Given the description of an element on the screen output the (x, y) to click on. 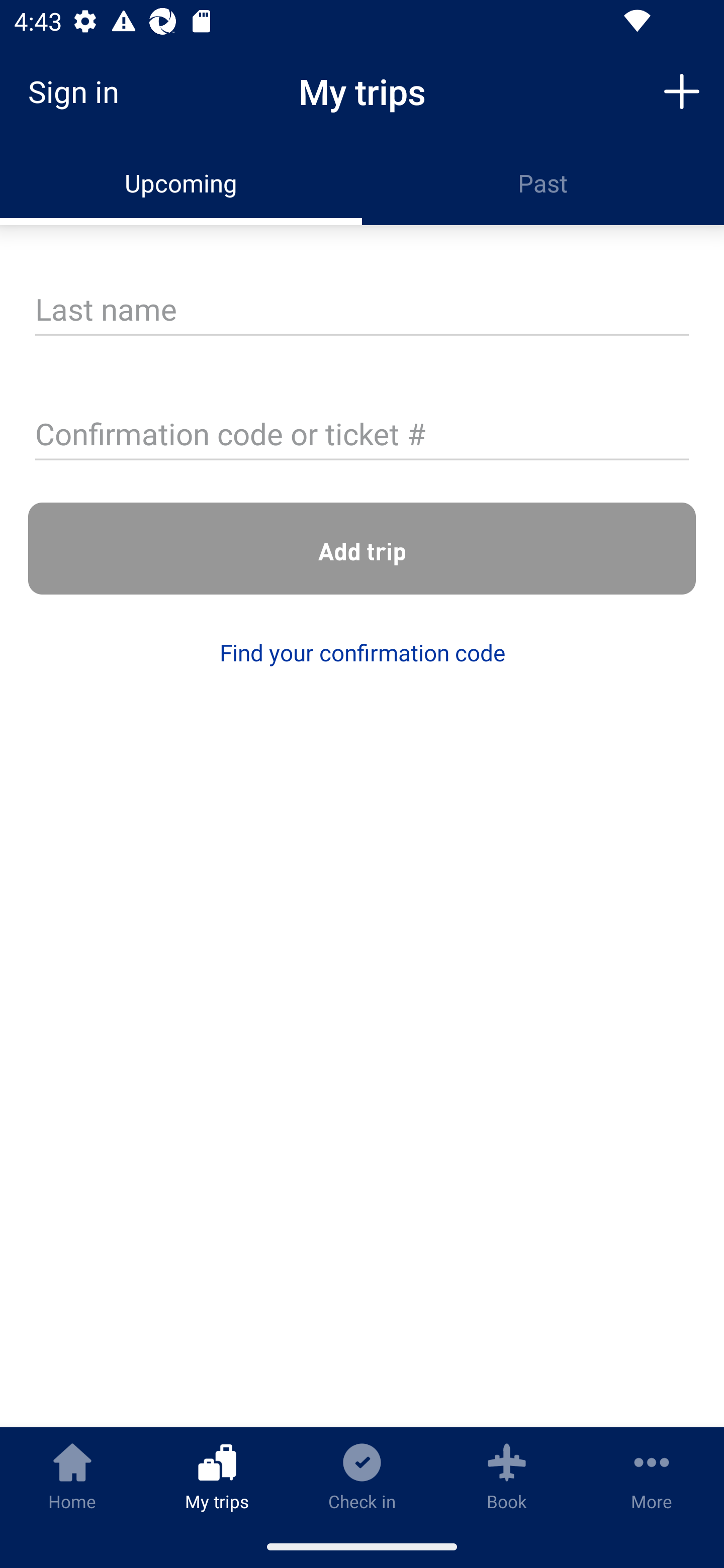
Sign in (80, 91)
Add trip (681, 90)
Past (543, 183)
Last name (361, 310)
Confirmation code or ticket # (361, 435)
Add trip (361, 548)
Home (72, 1475)
Check in (361, 1475)
Book (506, 1475)
More (651, 1475)
